Given the description of an element on the screen output the (x, y) to click on. 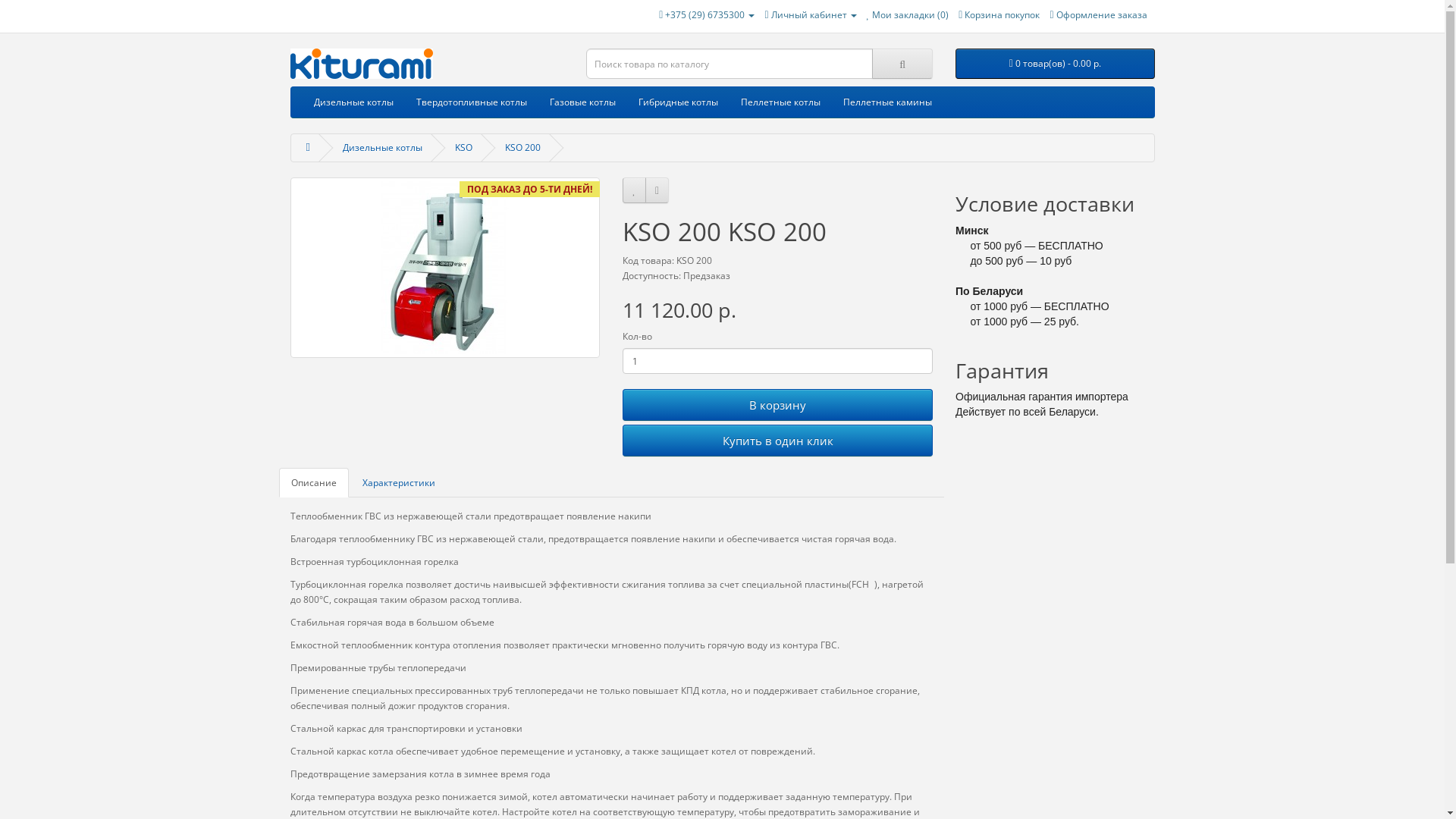
KSO 200 KSO 200 Element type: hover (444, 267)
KSO Element type: text (463, 147)
KSO 200 Element type: text (522, 147)
KSO 200 KSO 200 Element type: hover (444, 267)
+375 (29) 6735300 Element type: text (706, 14)
